Given the description of an element on the screen output the (x, y) to click on. 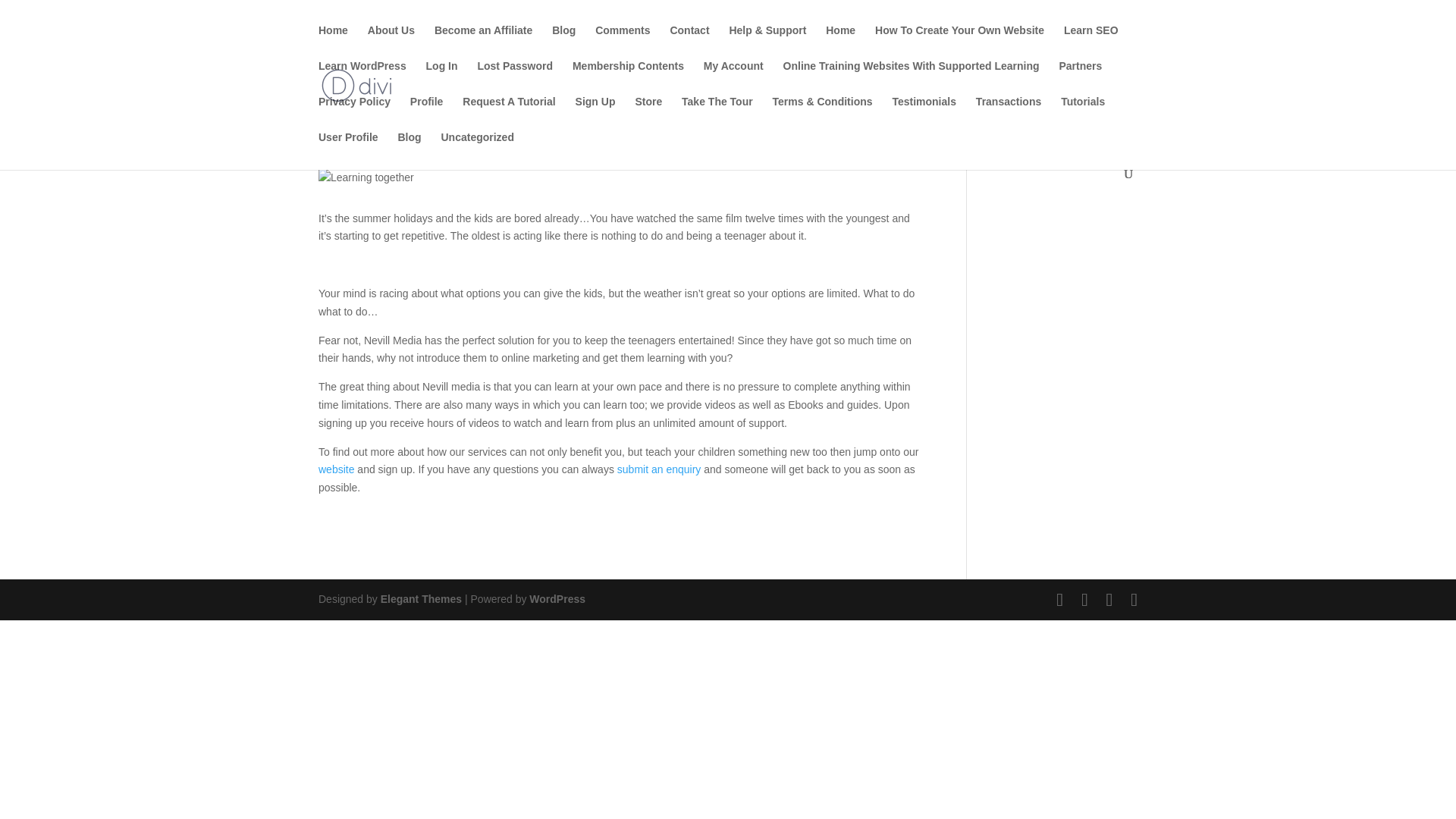
Request A Tutorial (508, 113)
My Account (732, 78)
Privacy Policy (354, 113)
About Us (391, 42)
Testimonials (923, 113)
Membership Contents (628, 78)
Comments (622, 42)
Contact (689, 42)
How To Create Your Own Website (959, 42)
Premium WordPress Themes (420, 598)
Become an Affiliate (482, 42)
Partners (1080, 78)
Profile (427, 113)
Lost Password (515, 78)
Learn SEO (1091, 42)
